Given the description of an element on the screen output the (x, y) to click on. 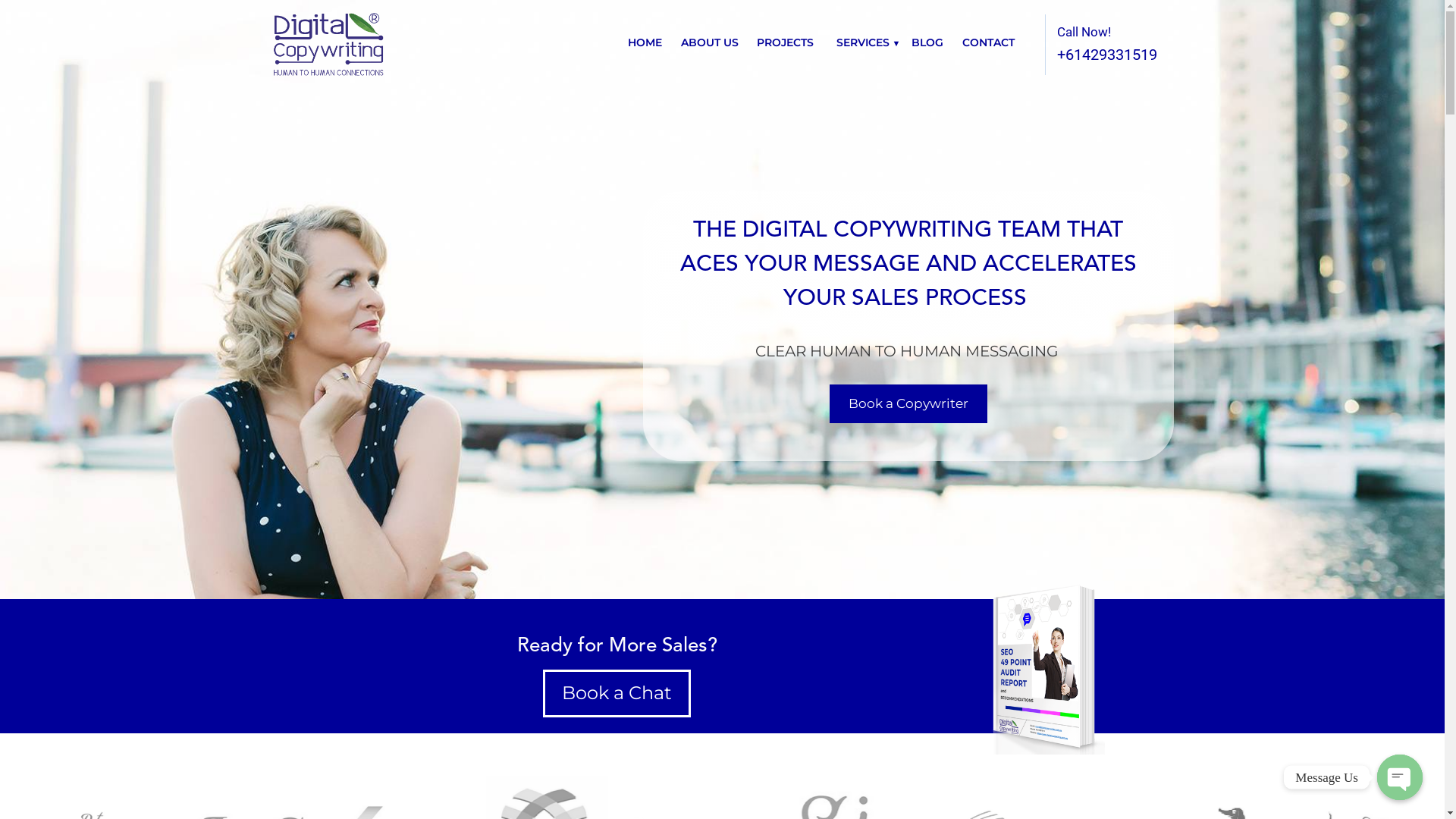
Call Now!
+61429331519 Element type: text (1097, 44)
HOME Element type: text (644, 42)
Book a Chat Element type: text (616, 693)
SERVICES Element type: text (861, 42)
Book a Copywriter Element type: text (908, 403)
PROJECTS Element type: text (784, 42)
imgpsh_fullsize_anim Element type: hover (1039, 667)
BLOG Element type: text (927, 42)
ABOUT US Element type: text (709, 42)
CONTACT Element type: text (987, 42)
